Given the description of an element on the screen output the (x, y) to click on. 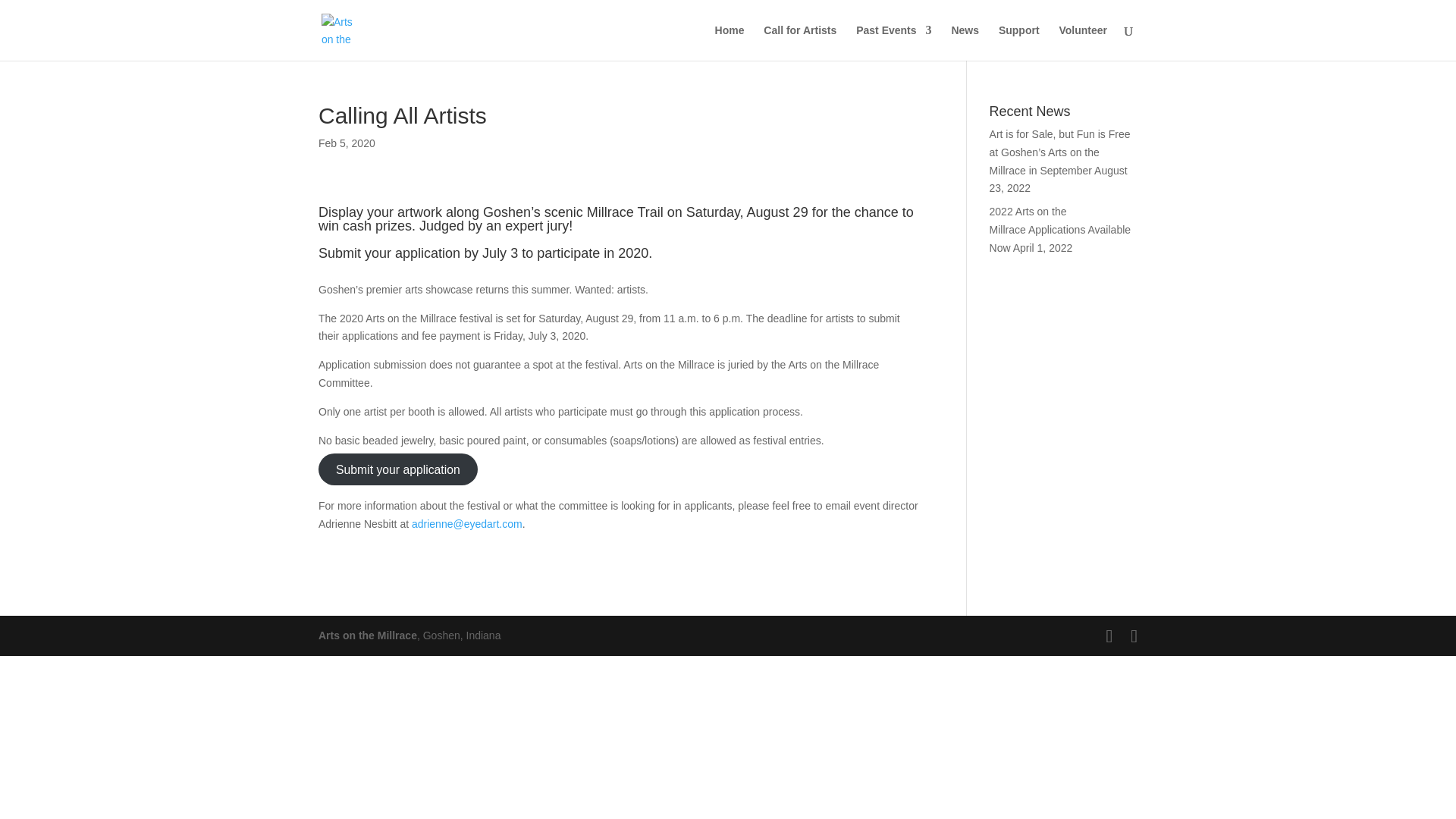
Volunteer (1082, 42)
Submit your application (397, 469)
Arts on the Millrace (367, 635)
Submit your application by July 3 to participate in 2020 (482, 253)
2022 Arts on the Millrace Applications Available Now (1060, 229)
Support (1018, 42)
Call for Artists (798, 42)
Past Events (893, 42)
